Given the description of an element on the screen output the (x, y) to click on. 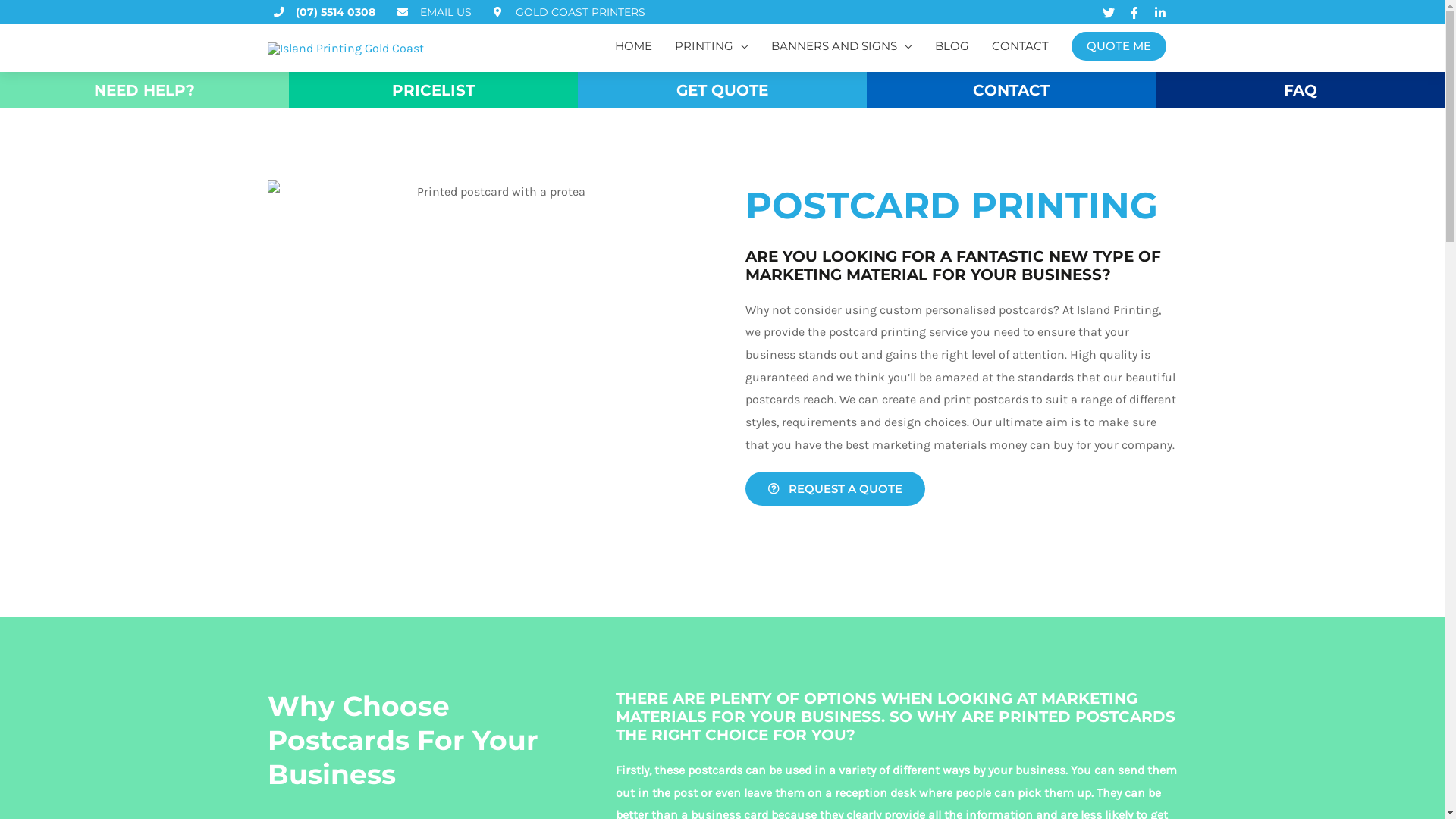
QUOTE ME Element type: text (1117, 45)
HOME Element type: text (633, 46)
GET QUOTE Element type: text (722, 90)
PRINTING Element type: text (710, 46)
REQUEST A QUOTE Element type: text (834, 488)
(07) 5514 0308 Element type: text (324, 11)
GOLD COAST PRINTERS Element type: text (568, 11)
BLOG Element type: text (951, 46)
EMAIL US Element type: text (434, 11)
BANNERS AND SIGNS Element type: text (841, 46)
CONTACT Element type: text (1019, 46)
